Given the description of an element on the screen output the (x, y) to click on. 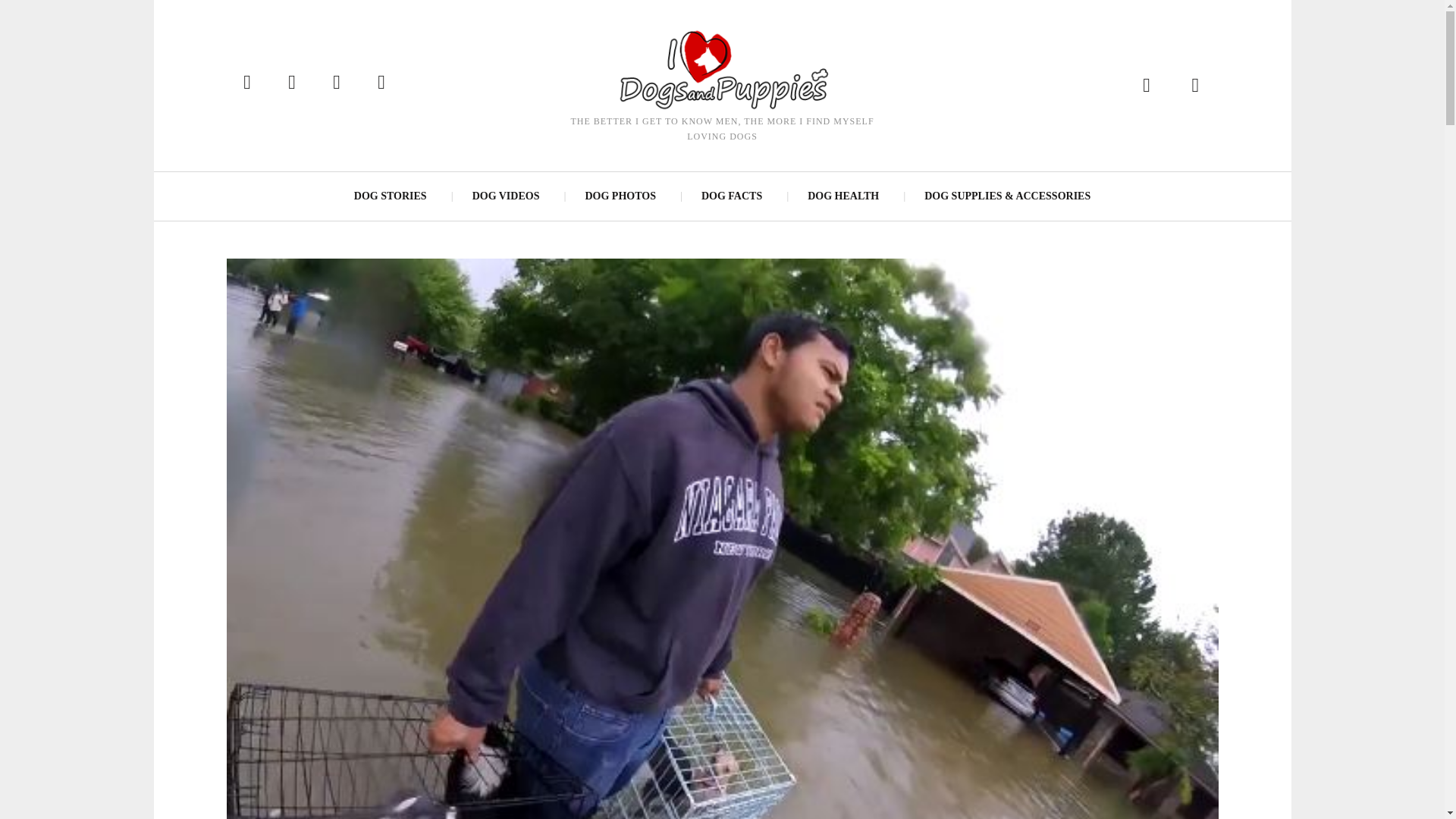
pinterest (291, 82)
twitter (335, 82)
ILoveDogsAndPuppies (721, 68)
DOG VIDEOS (505, 195)
DOG STORIES (390, 195)
DOG FACTS (731, 195)
gplus (382, 82)
facebook (246, 82)
DOG PHOTOS (619, 195)
DOG HEALTH (842, 195)
